Given the description of an element on the screen output the (x, y) to click on. 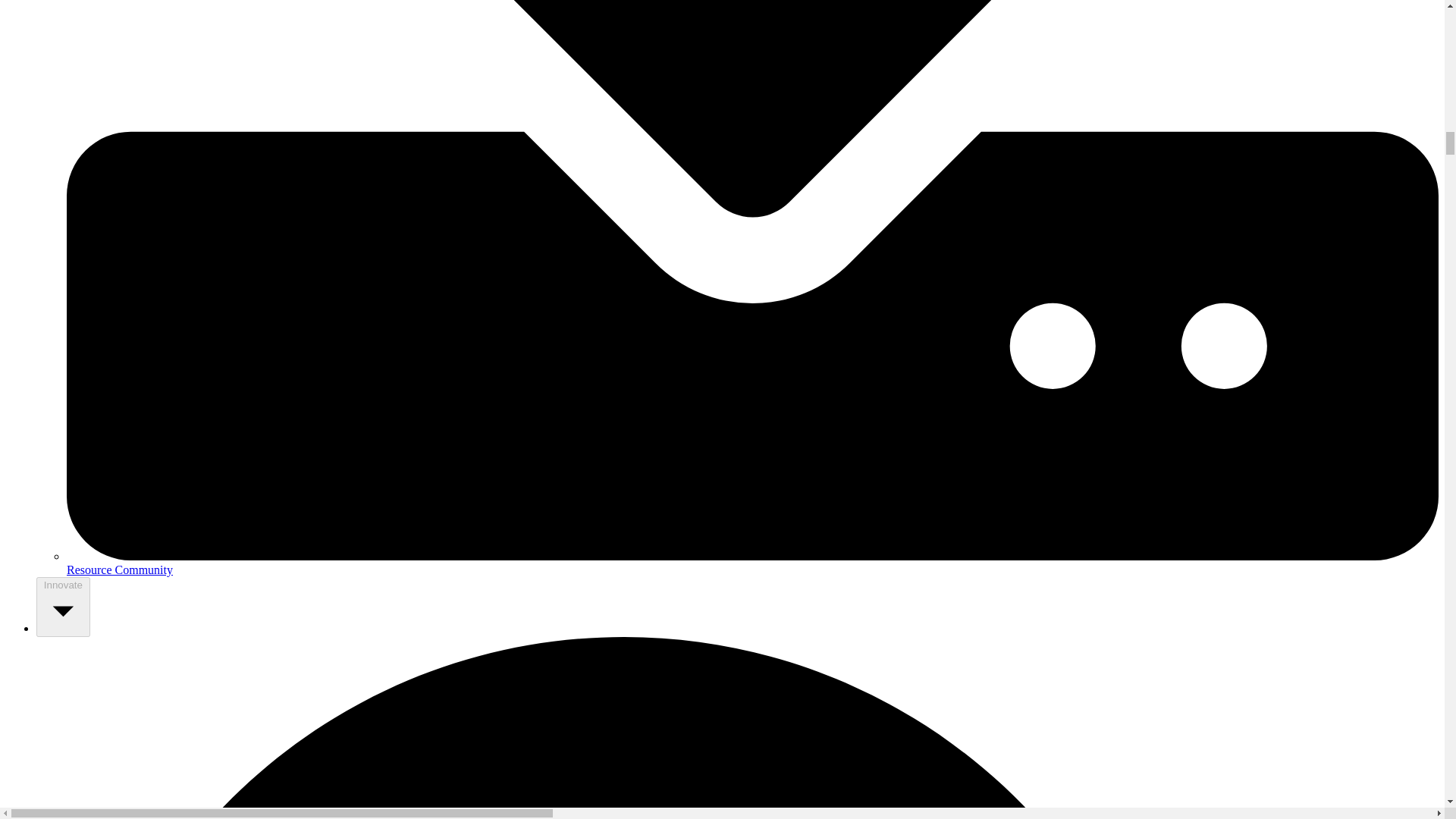
Innovate (63, 607)
